Given the description of an element on the screen output the (x, y) to click on. 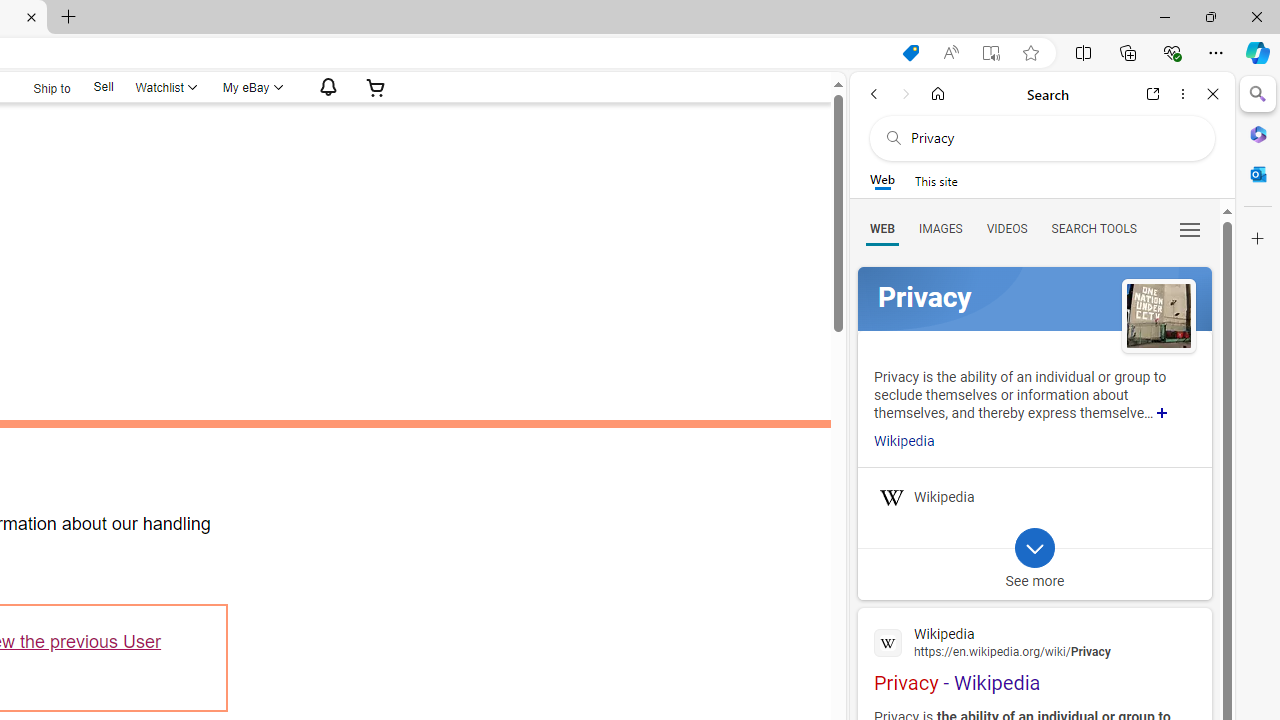
Class: b_serphb (1190, 229)
Preferences (1189, 228)
Watchlist (165, 87)
Open link in new tab (1153, 93)
Outlook (1258, 174)
WatchlistExpand Watch List (165, 87)
Sell (103, 87)
Class: b_exp_chevron_svg b_expmob_chev (1034, 547)
